Given the description of an element on the screen output the (x, y) to click on. 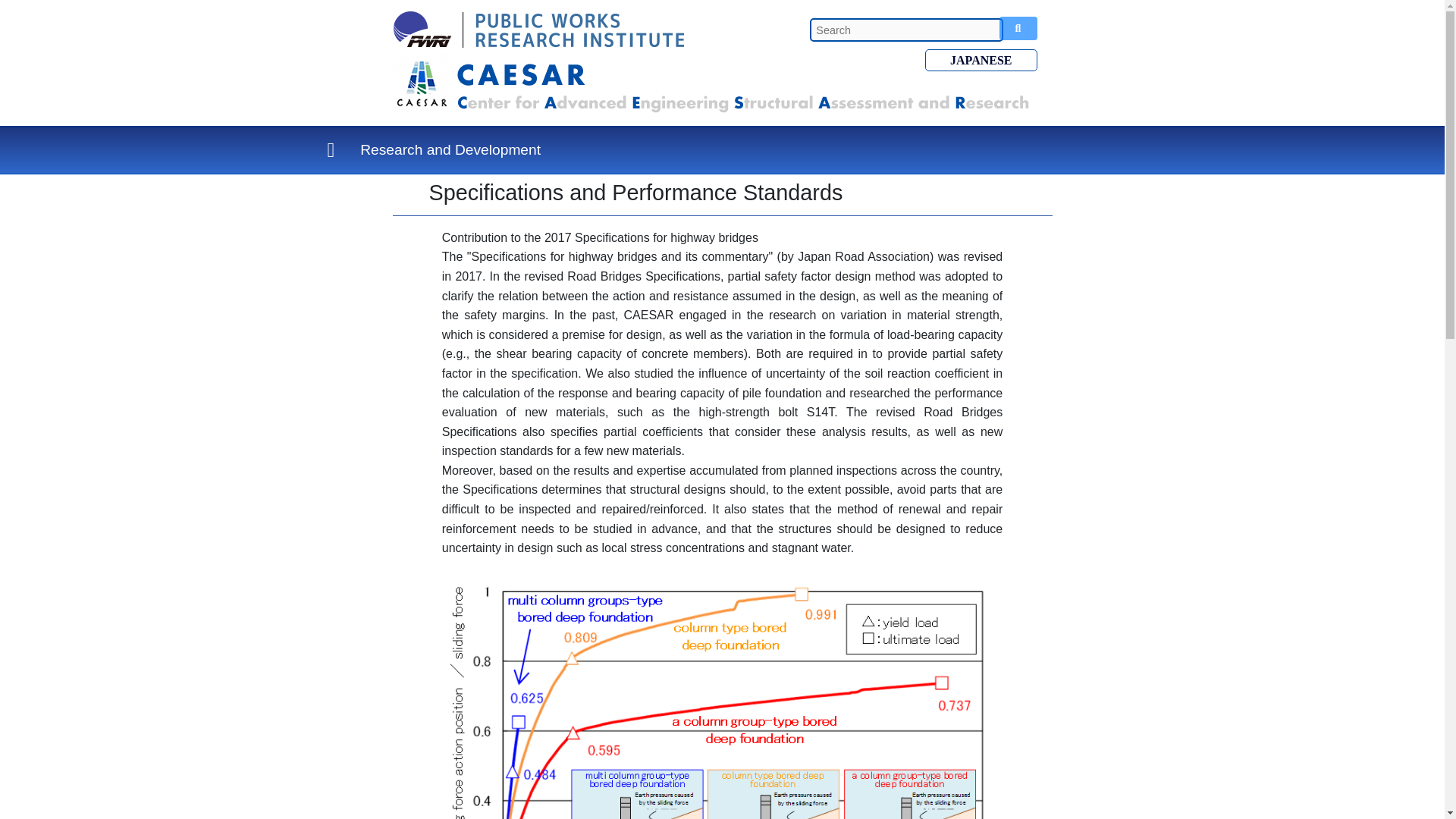
Home (331, 150)
JAPANESE (980, 60)
